Given the description of an element on the screen output the (x, y) to click on. 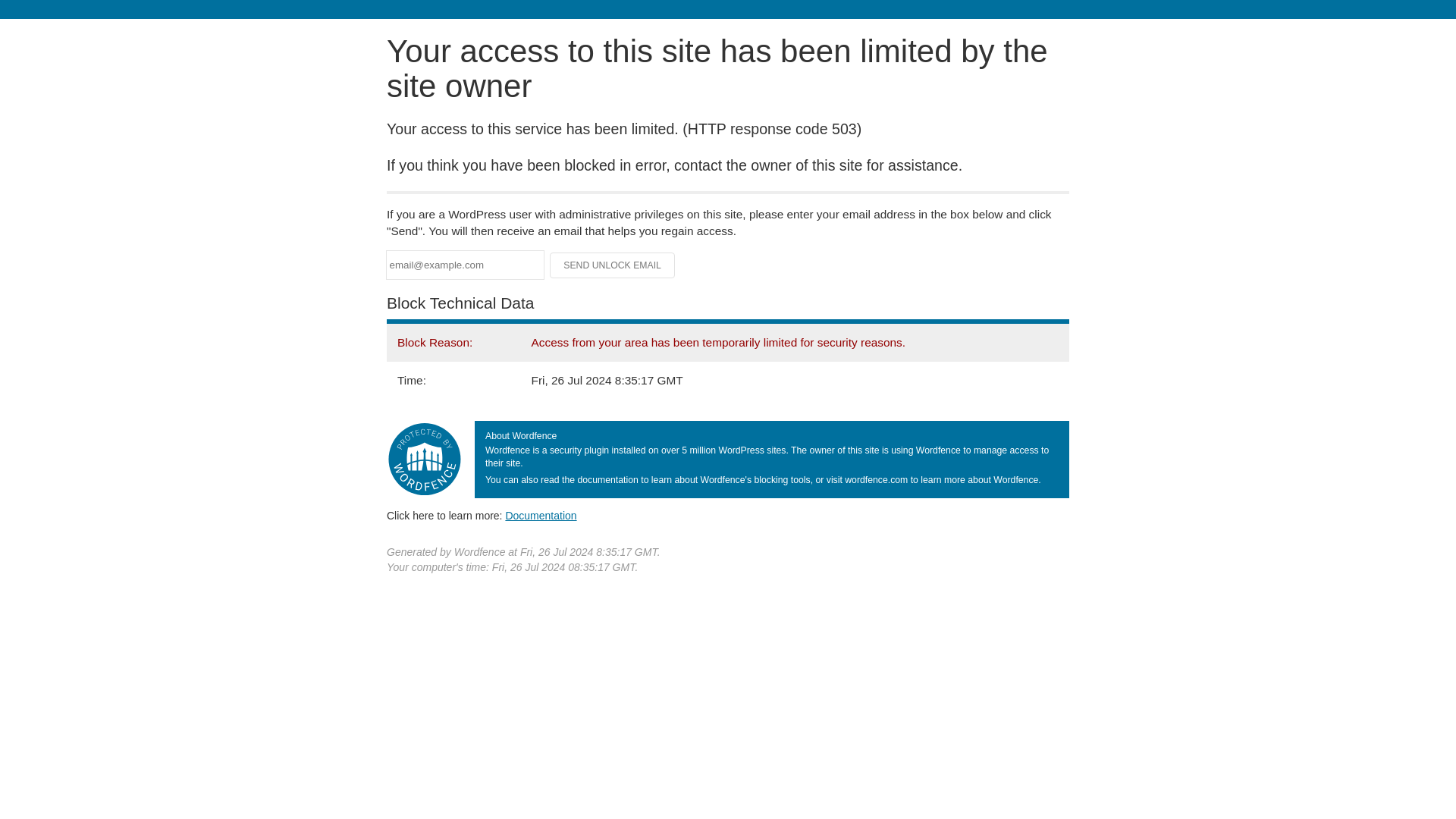
Send Unlock Email (612, 265)
Documentation (540, 515)
Send Unlock Email (612, 265)
